Given the description of an element on the screen output the (x, y) to click on. 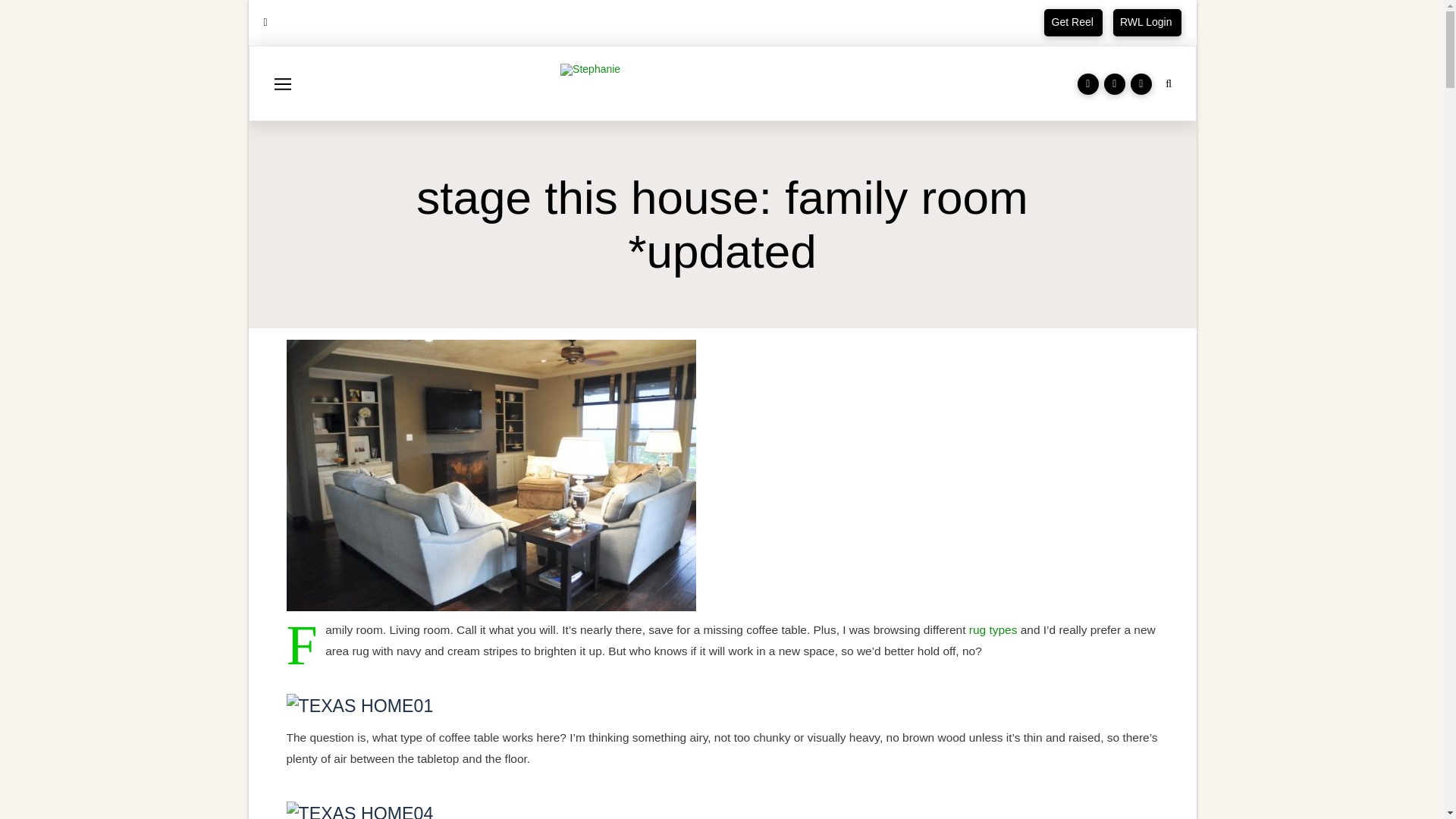
texas home04 (359, 810)
texas home02 (490, 474)
Get Reel (1072, 22)
texas home01 (359, 704)
RWL Login (1146, 22)
rug types (993, 629)
